Given the description of an element on the screen output the (x, y) to click on. 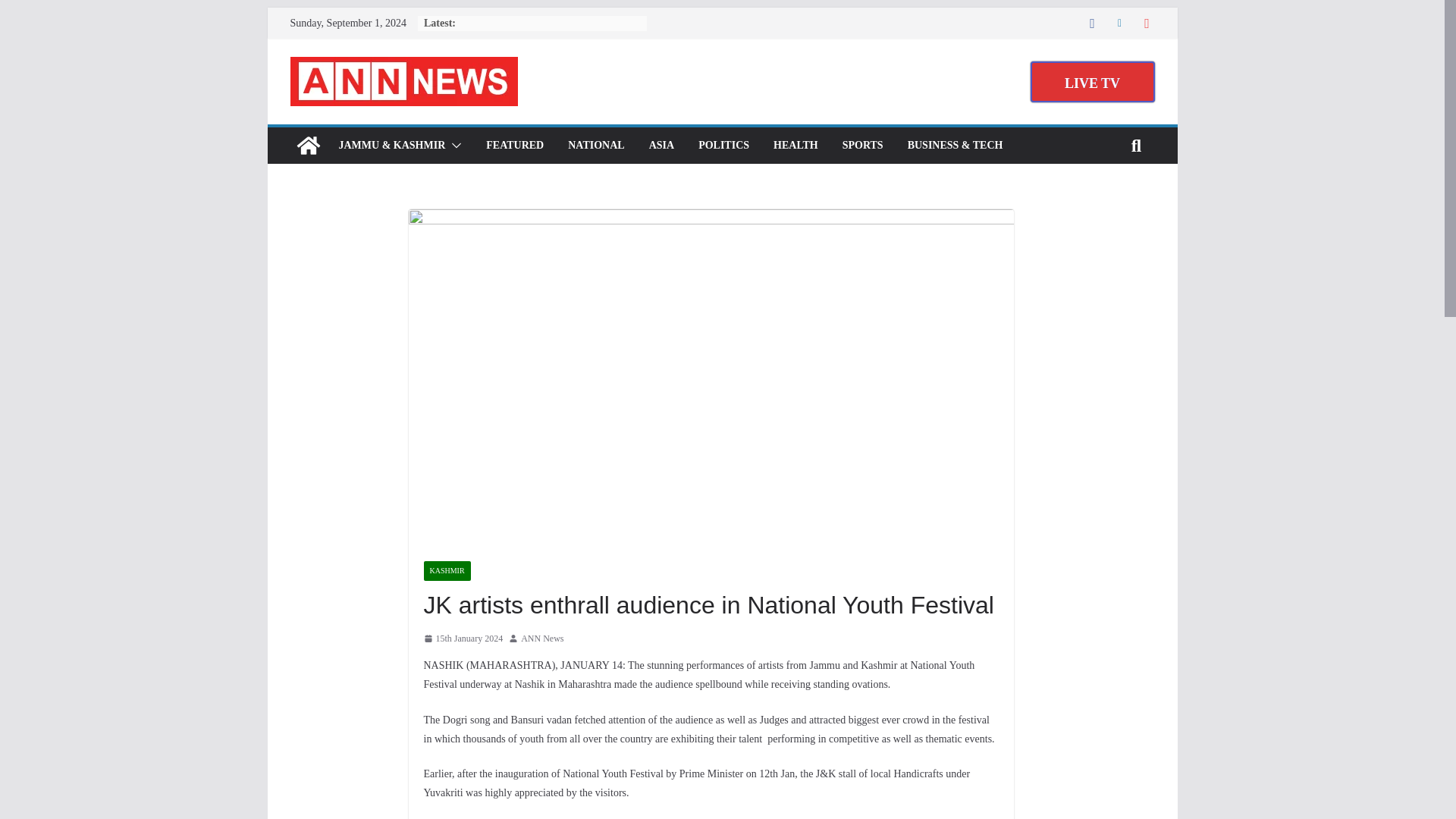
KASHMIR (446, 570)
FEATURED (514, 145)
SPORTS (863, 145)
ANN News (542, 638)
NATIONAL (595, 145)
POLITICS (723, 145)
ANN News (542, 638)
ANN News (307, 145)
5:03 pm (462, 638)
